Given the description of an element on the screen output the (x, y) to click on. 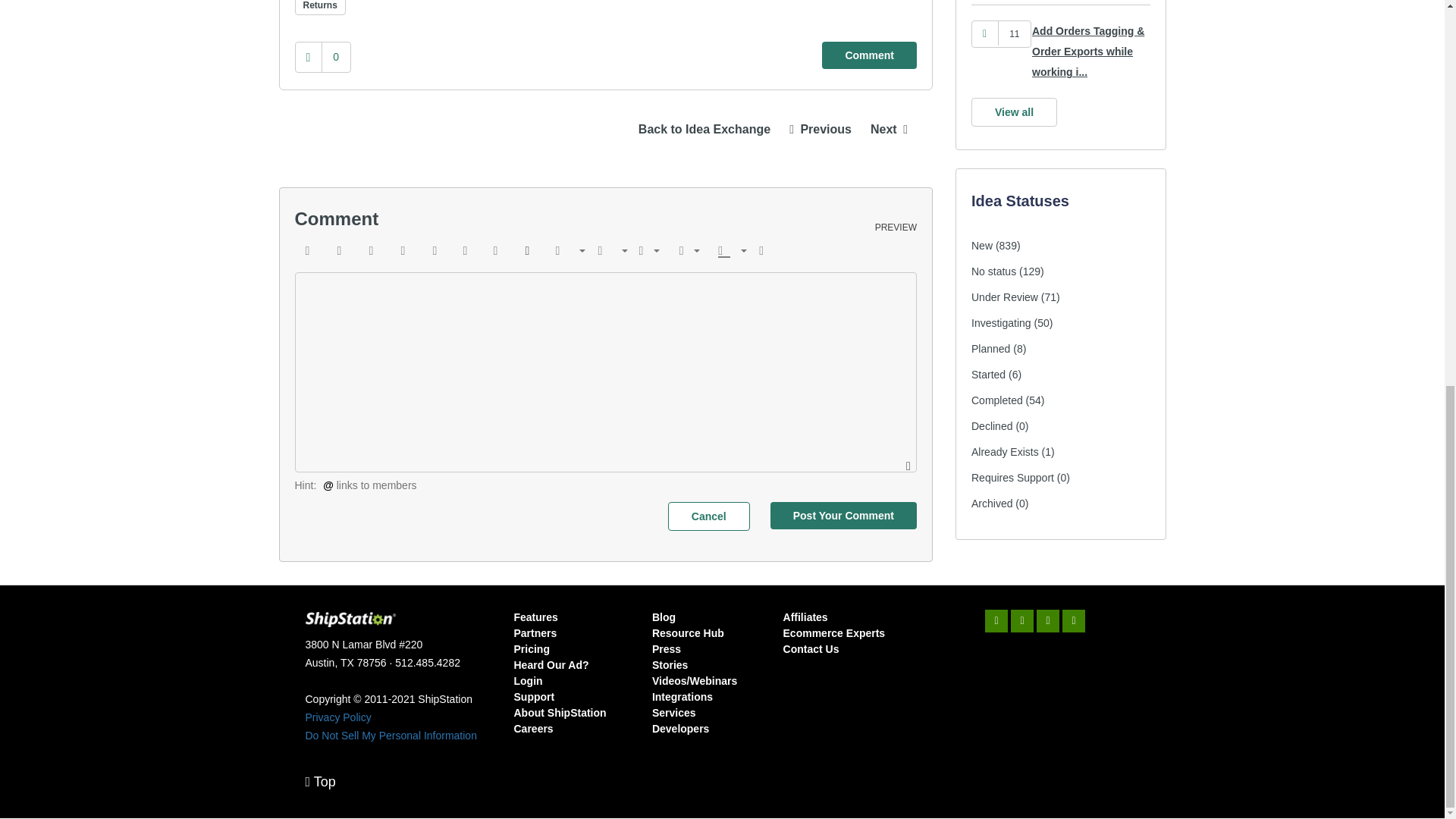
Back to Idea Exchange (704, 129)
Cancel (708, 516)
Next (888, 129)
The total number of kudos this post has received. (335, 56)
Click here to give kudos to this post. (307, 57)
Per piece price is rounding up - please fix this (888, 129)
Comment (869, 54)
Time Stamps for Internal Notes (819, 129)
Previous (819, 129)
Post Your Comment (843, 515)
Returns (319, 7)
